Given the description of an element on the screen output the (x, y) to click on. 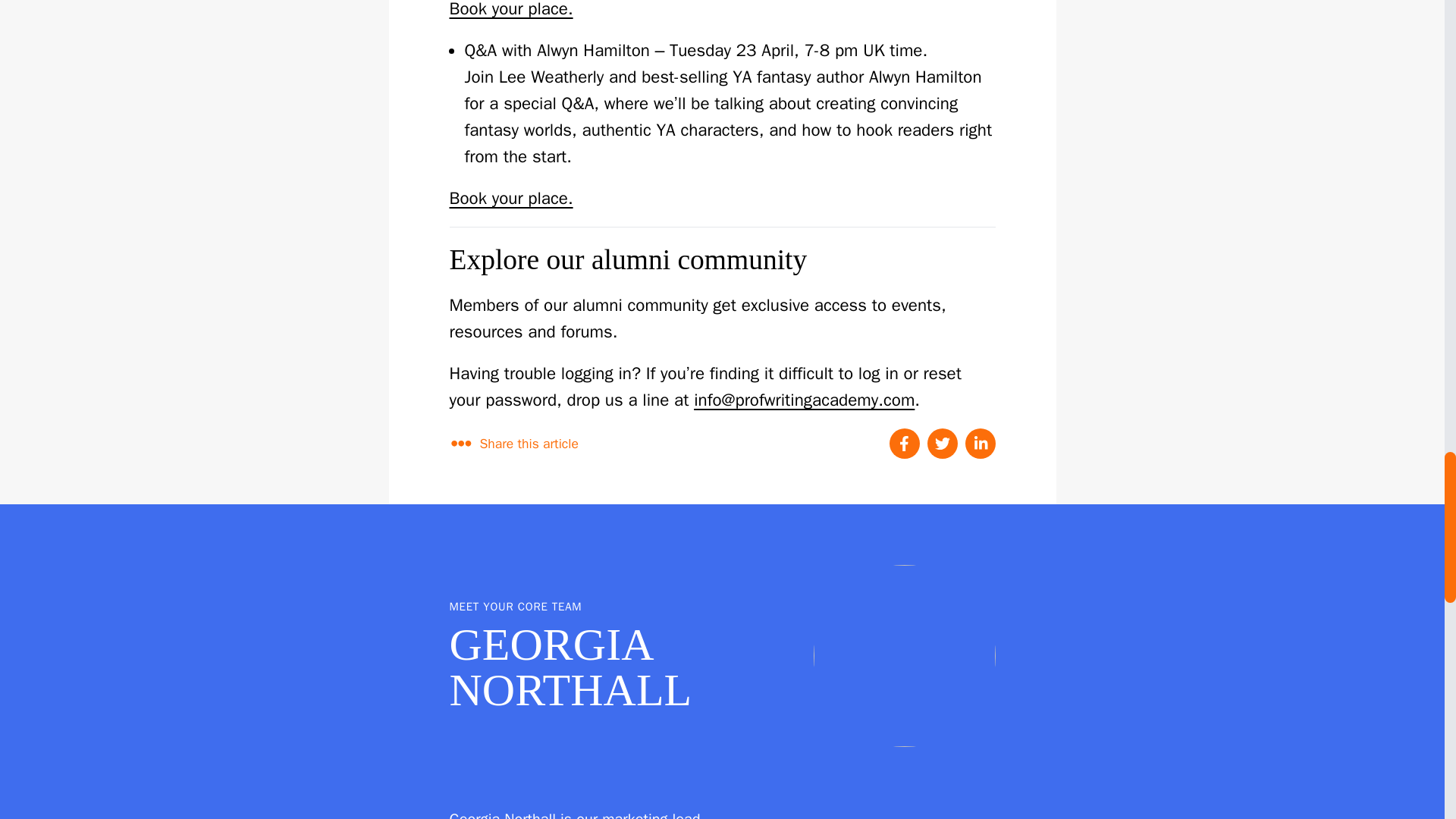
Share this on LinkedIn (978, 443)
Share this on Twitter (941, 443)
Book your place. (510, 198)
Share this on FaceBook (903, 443)
Book your place. (510, 9)
Georgia Northall (903, 655)
